Given the description of an element on the screen output the (x, y) to click on. 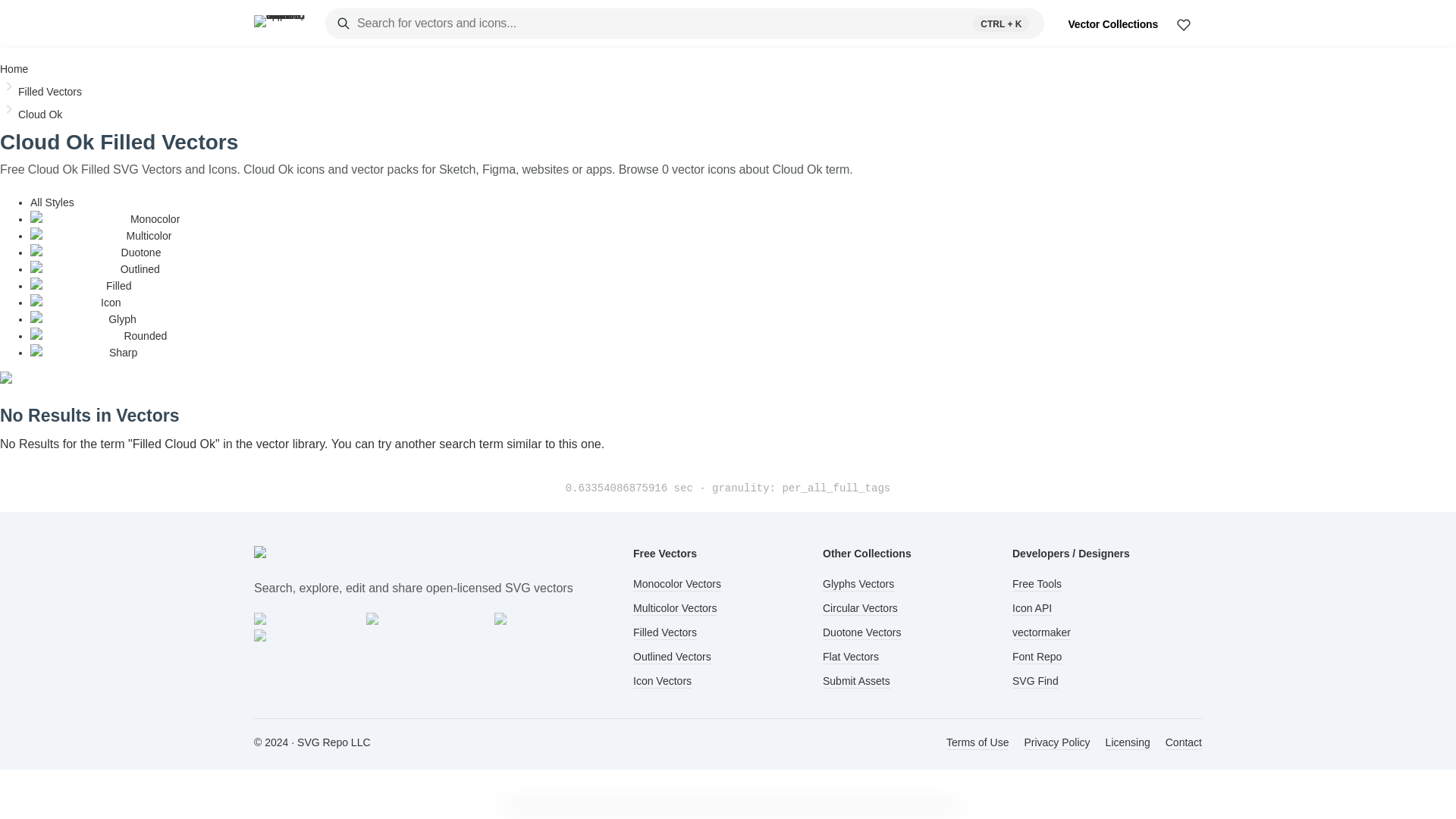
Filled (81, 285)
Free Tools (1036, 584)
Vector Collections (1112, 23)
Rounded (98, 336)
Monocolor (104, 218)
Cloud Ok (39, 114)
Terms of Use (977, 743)
Icon Vectors (662, 681)
Submit Assets (855, 681)
vectormaker (1040, 632)
Glyph (83, 318)
Privacy Policy (1056, 743)
Icon (75, 302)
Flat Vectors (850, 657)
Glyphs Vectors (857, 584)
